Given the description of an element on the screen output the (x, y) to click on. 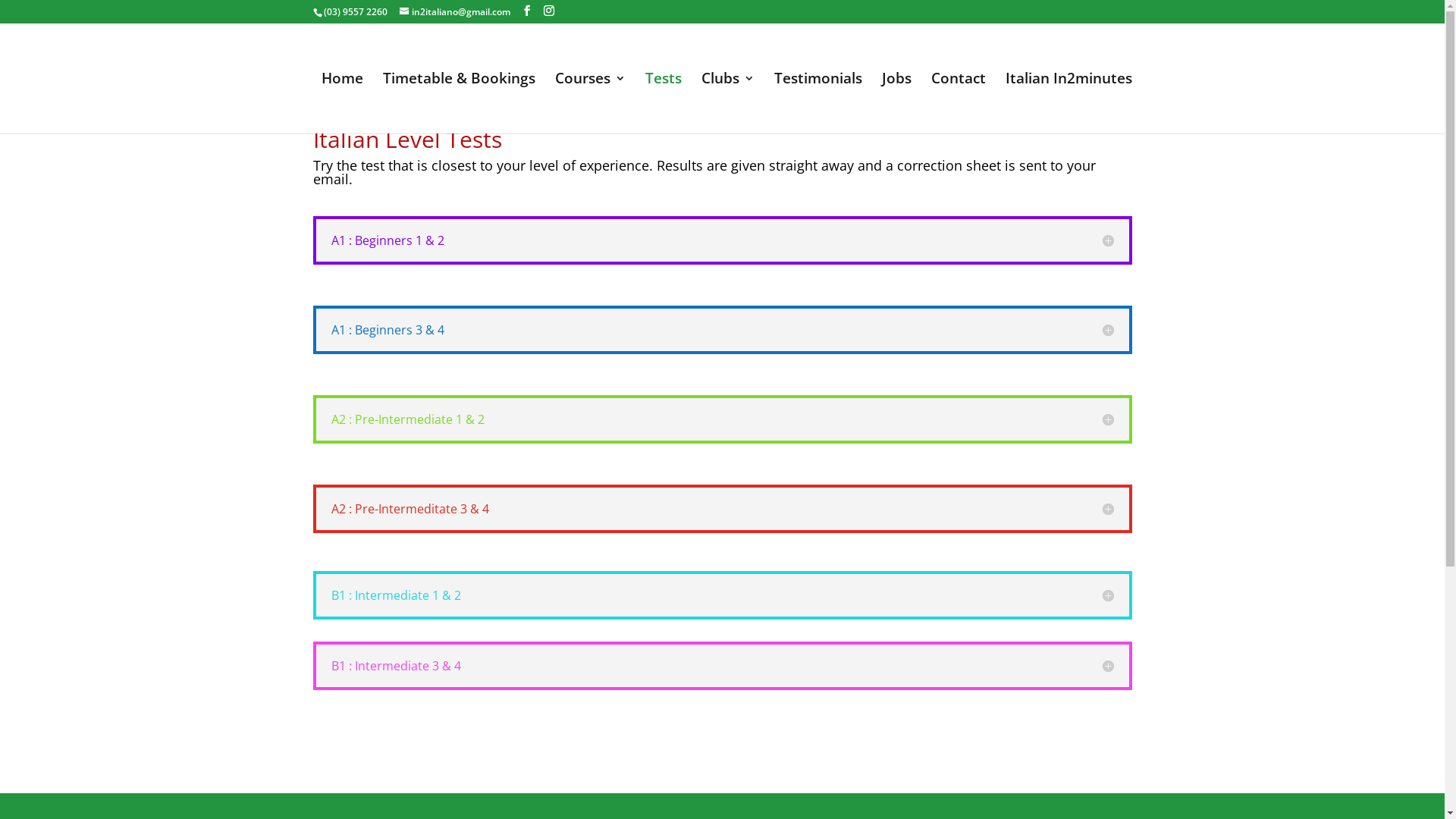
Jobs Element type: text (895, 102)
Courses Element type: text (590, 102)
Timetable & Bookings Element type: text (458, 102)
Tests Element type: text (662, 102)
Clubs Element type: text (726, 102)
Contact Element type: text (958, 102)
(03) 9557 2260 Element type: text (354, 11)
Italian In2minutes Element type: text (1068, 102)
Testimonials Element type: text (817, 102)
in2italiano@gmail.com Element type: text (453, 11)
Home Element type: text (342, 102)
